Given the description of an element on the screen output the (x, y) to click on. 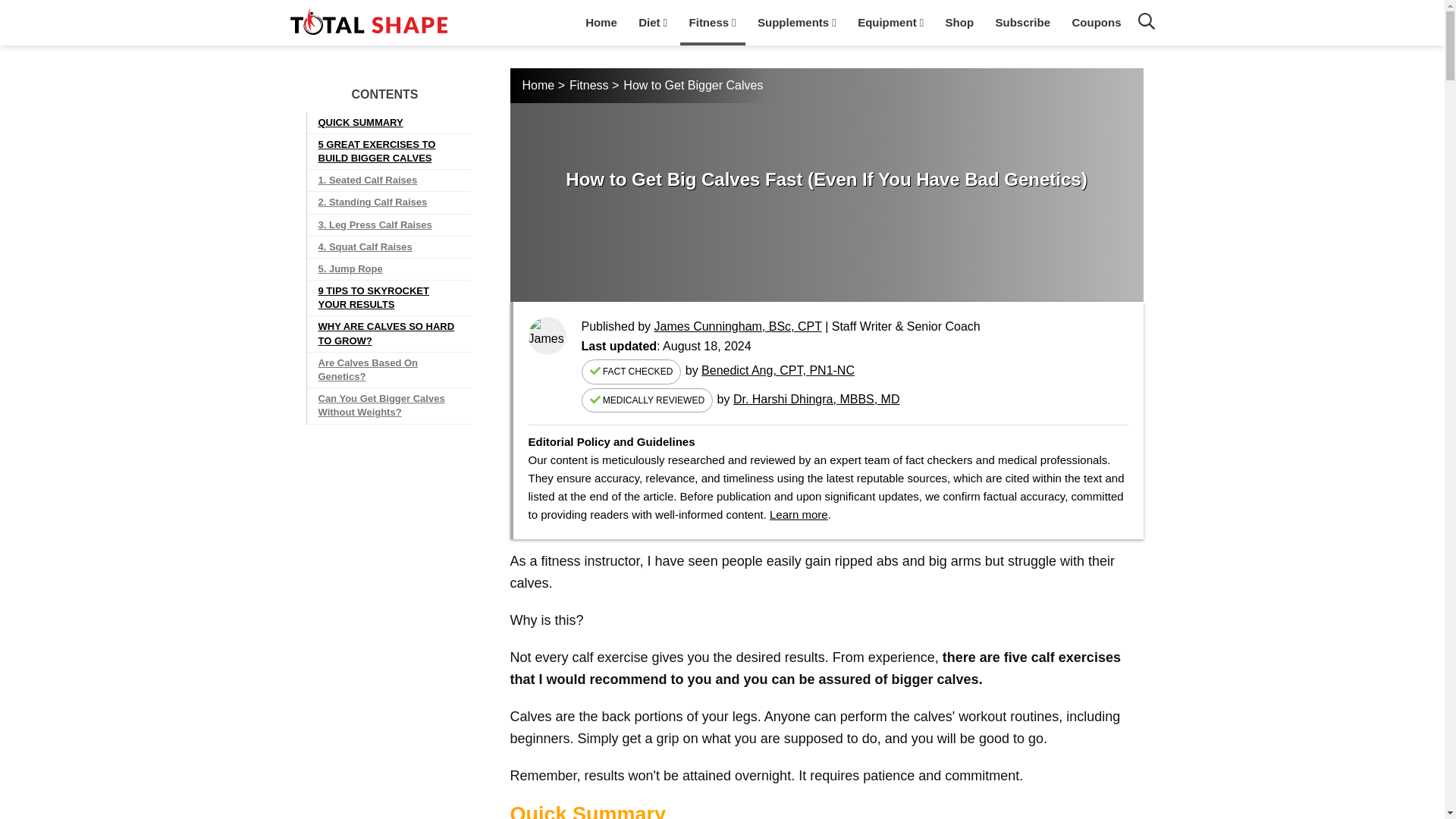
Fitness (712, 21)
Home (601, 21)
Supplements (796, 21)
Diet (652, 21)
